Given the description of an element on the screen output the (x, y) to click on. 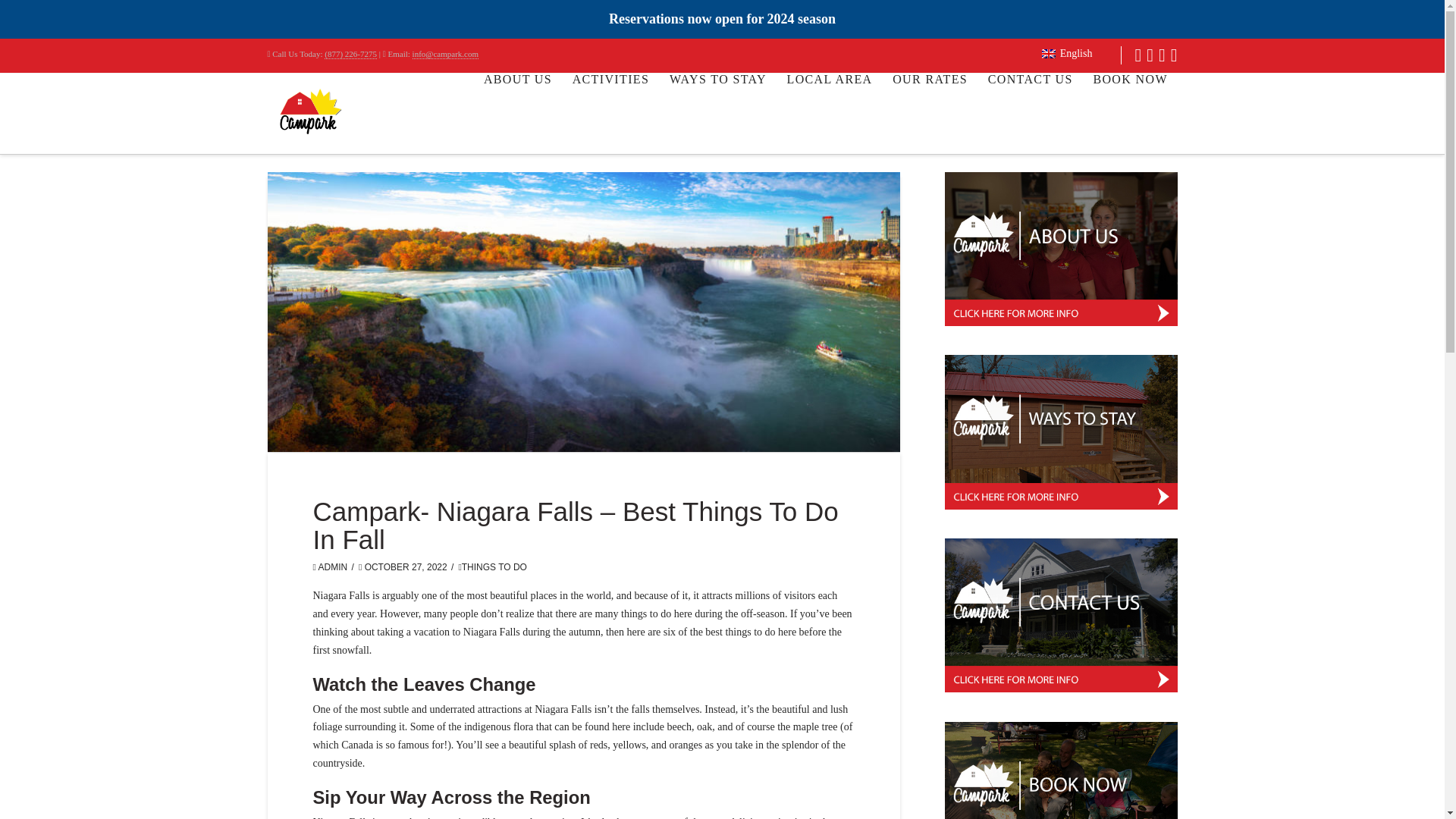
BOOK NOW (1128, 107)
CONTACT US (1029, 107)
ABOUT US (517, 107)
ACTIVITIES (610, 107)
WAYS TO STAY (717, 107)
OUR RATES (929, 107)
English (1066, 54)
LOCAL AREA (829, 107)
THINGS TO DO (492, 566)
